Given the description of an element on the screen output the (x, y) to click on. 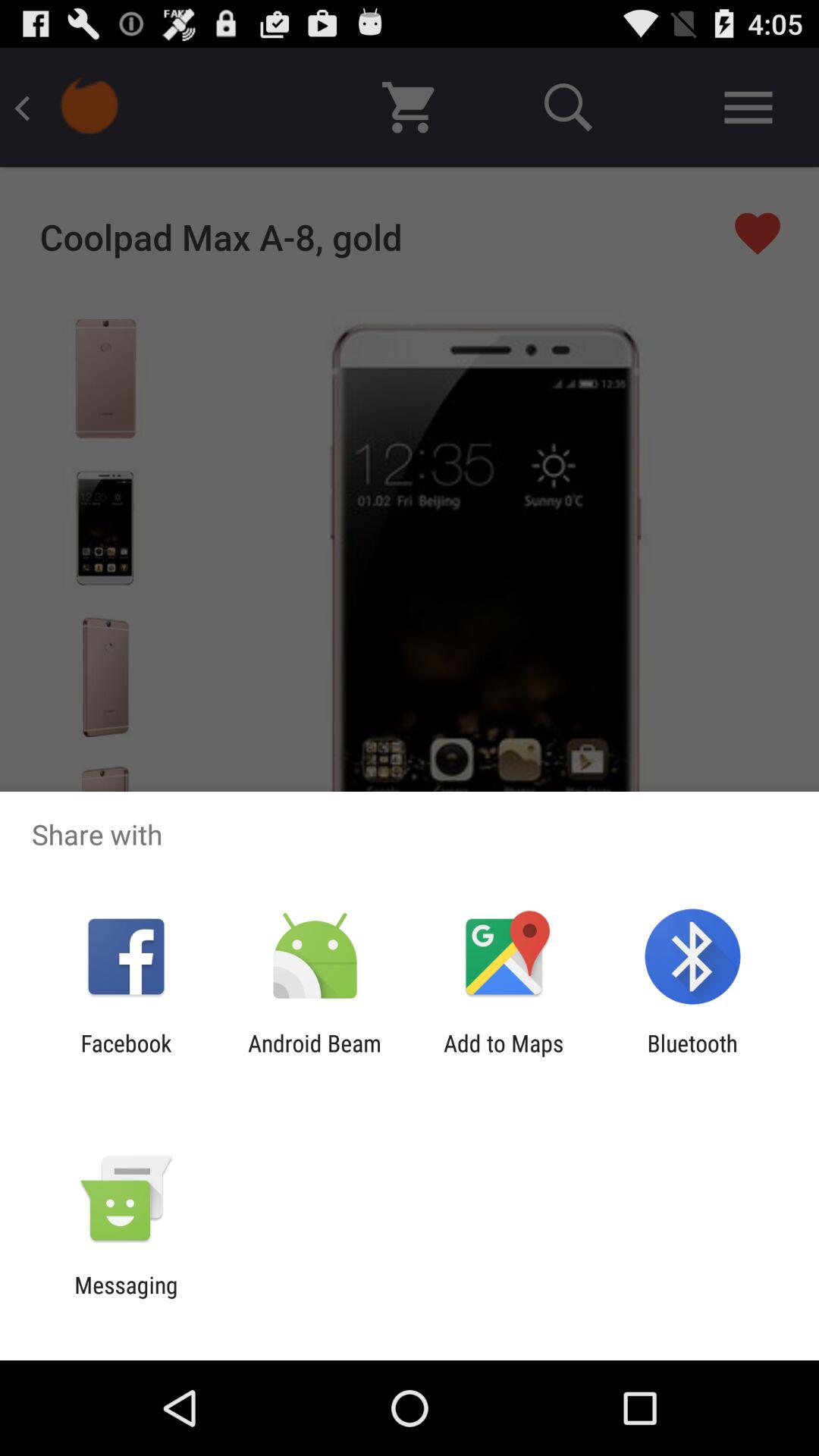
launch item to the left of add to maps app (314, 1056)
